Given the description of an element on the screen output the (x, y) to click on. 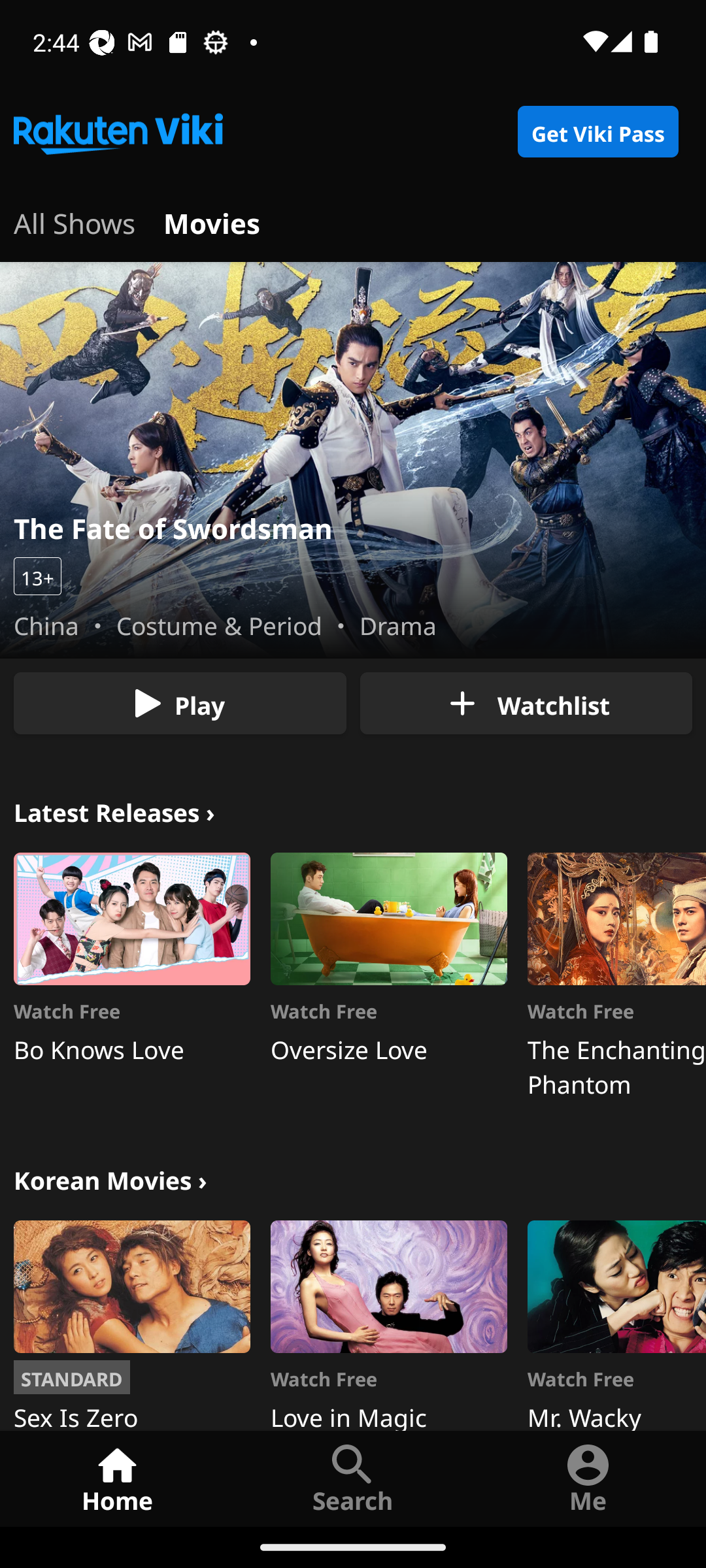
Get Viki Pass (597, 131)
home_tab_all_shows All Shows (74, 220)
Play home_billboard_play_button (179, 702)
Watchlist home_billboard_add_to_watchlist_button (526, 702)
Latest Releases › latest_releases_movies (114, 809)
Korean Movies › korean_movies_trending (110, 1178)
Search (352, 1478)
Me (588, 1478)
